Given the description of an element on the screen output the (x, y) to click on. 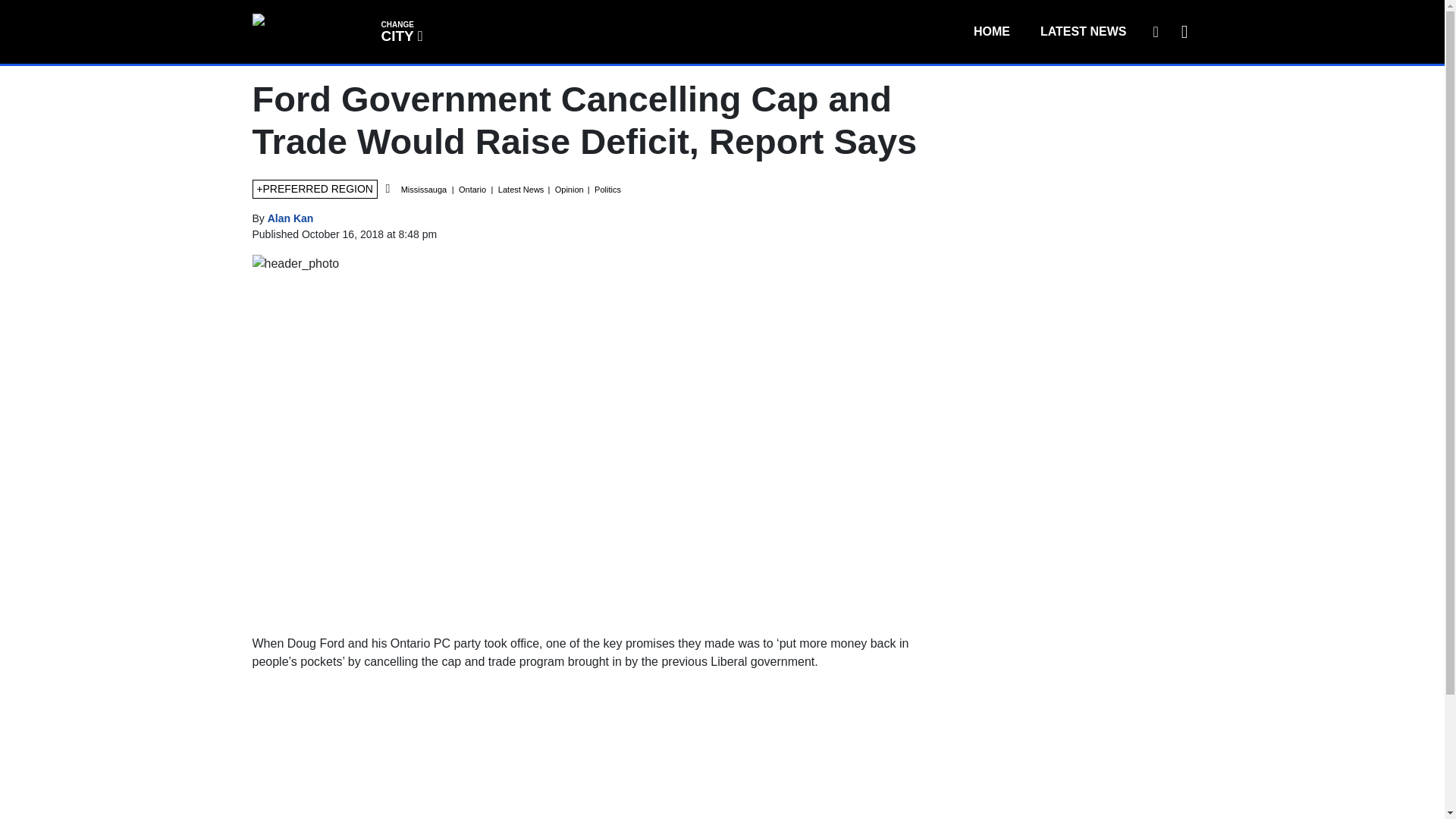
SIGN UP FOR OUR NEWSLETTER (1155, 31)
LATEST NEWS (1083, 31)
Posts by 172 (400, 30)
HOME (290, 218)
